Given the description of an element on the screen output the (x, y) to click on. 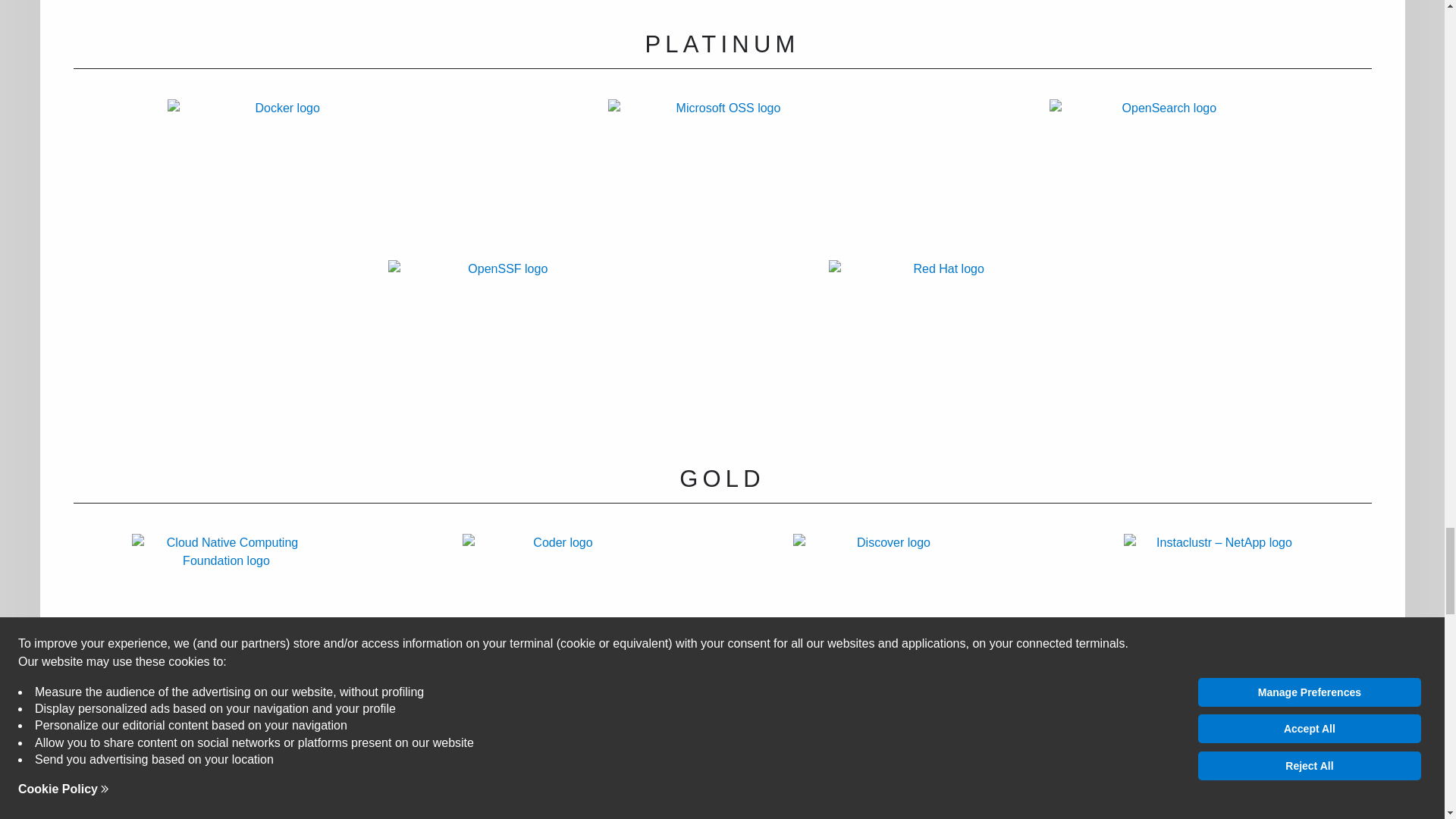
Go to Docker (281, 179)
